Given the description of an element on the screen output the (x, y) to click on. 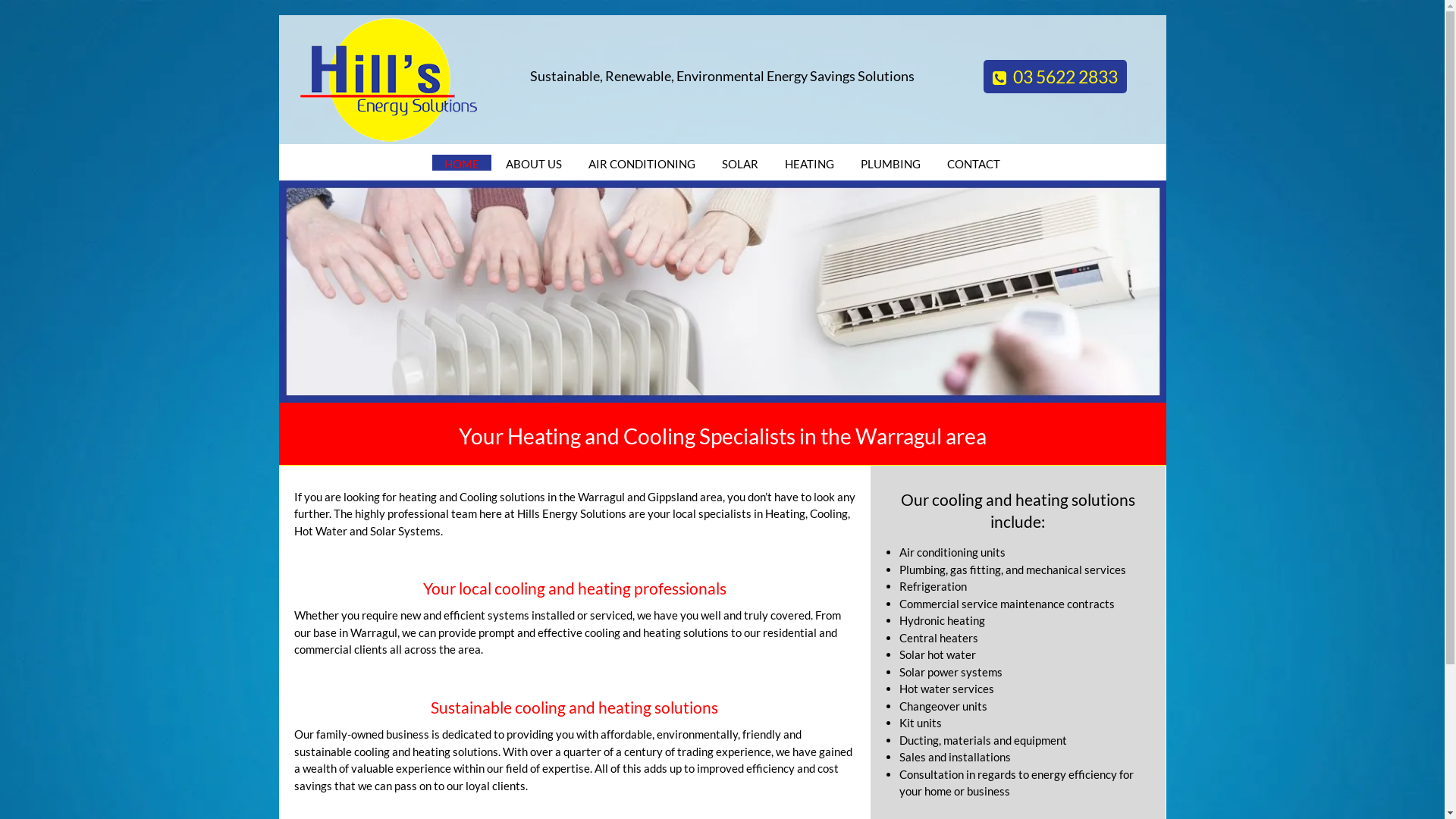
hills energy solutions business logo Element type: hover (389, 79)
PLUMBING Element type: text (890, 163)
CONTACT Element type: text (973, 163)
HOME Element type: text (461, 163)
hills energy solutions heater and air conditioner Element type: hover (722, 291)
AIR CONDITIONING Element type: text (641, 163)
HEATING Element type: text (809, 163)
SOLAR Element type: text (739, 163)
ABOUT US Element type: text (533, 163)
